Given the description of an element on the screen output the (x, y) to click on. 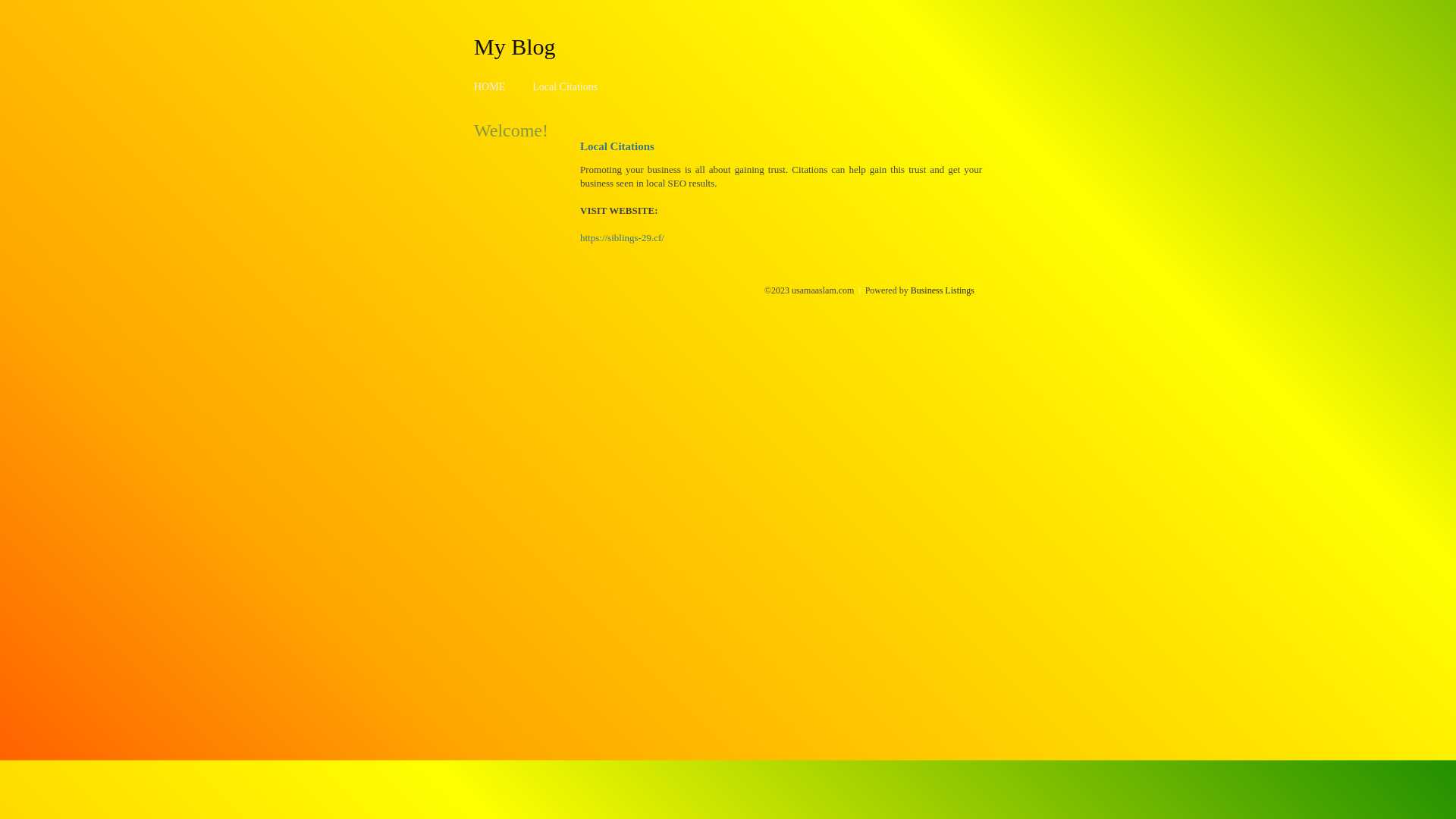
https://siblings-29.cf/ Element type: text (622, 237)
My Blog Element type: text (514, 46)
Business Listings Element type: text (942, 290)
Local Citations Element type: text (564, 86)
HOME Element type: text (489, 86)
